Given the description of an element on the screen output the (x, y) to click on. 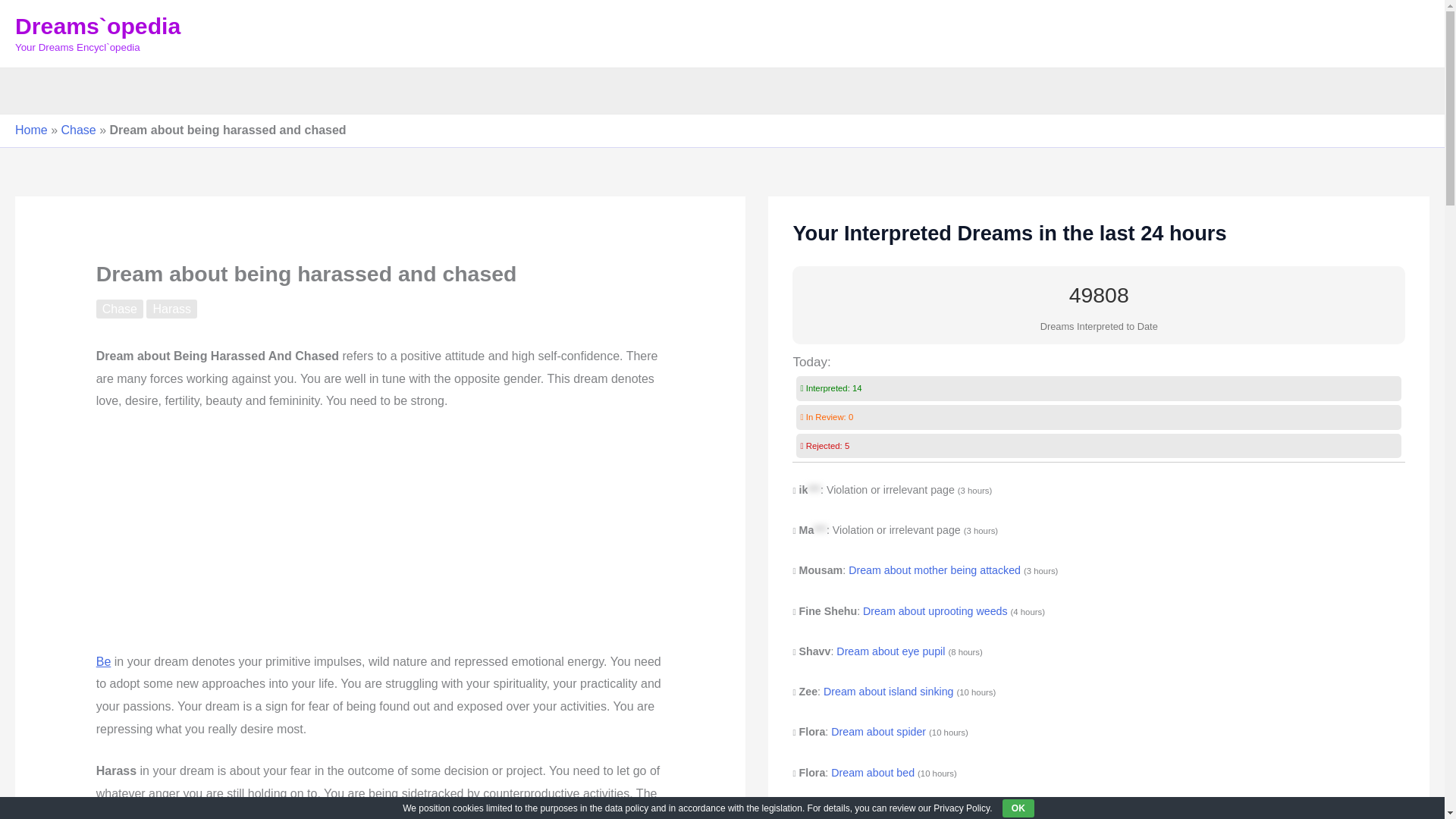
Dream about mother being attacked (934, 570)
Harass (171, 308)
Be (104, 661)
Advertisement (380, 538)
Dream about island sinking (888, 691)
Dream about bed (872, 772)
Chase (78, 129)
Dream about uprooting weeds (935, 611)
Dream about spider (878, 731)
Chase (119, 308)
Dream about eye pupil (889, 651)
Dream about spider (878, 812)
Home (31, 129)
